Given the description of an element on the screen output the (x, y) to click on. 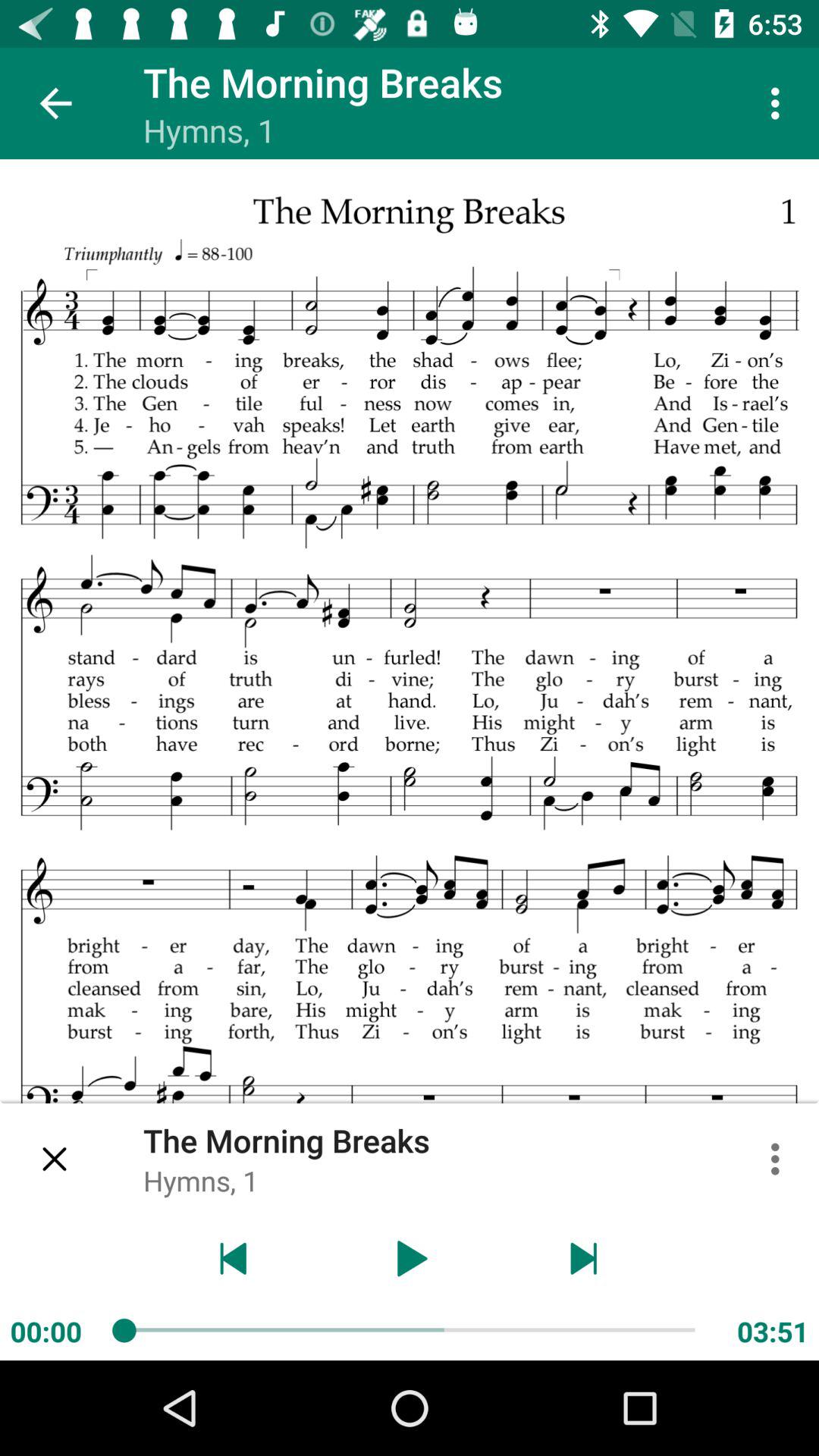
click icon at the center (409, 759)
